Given the description of an element on the screen output the (x, y) to click on. 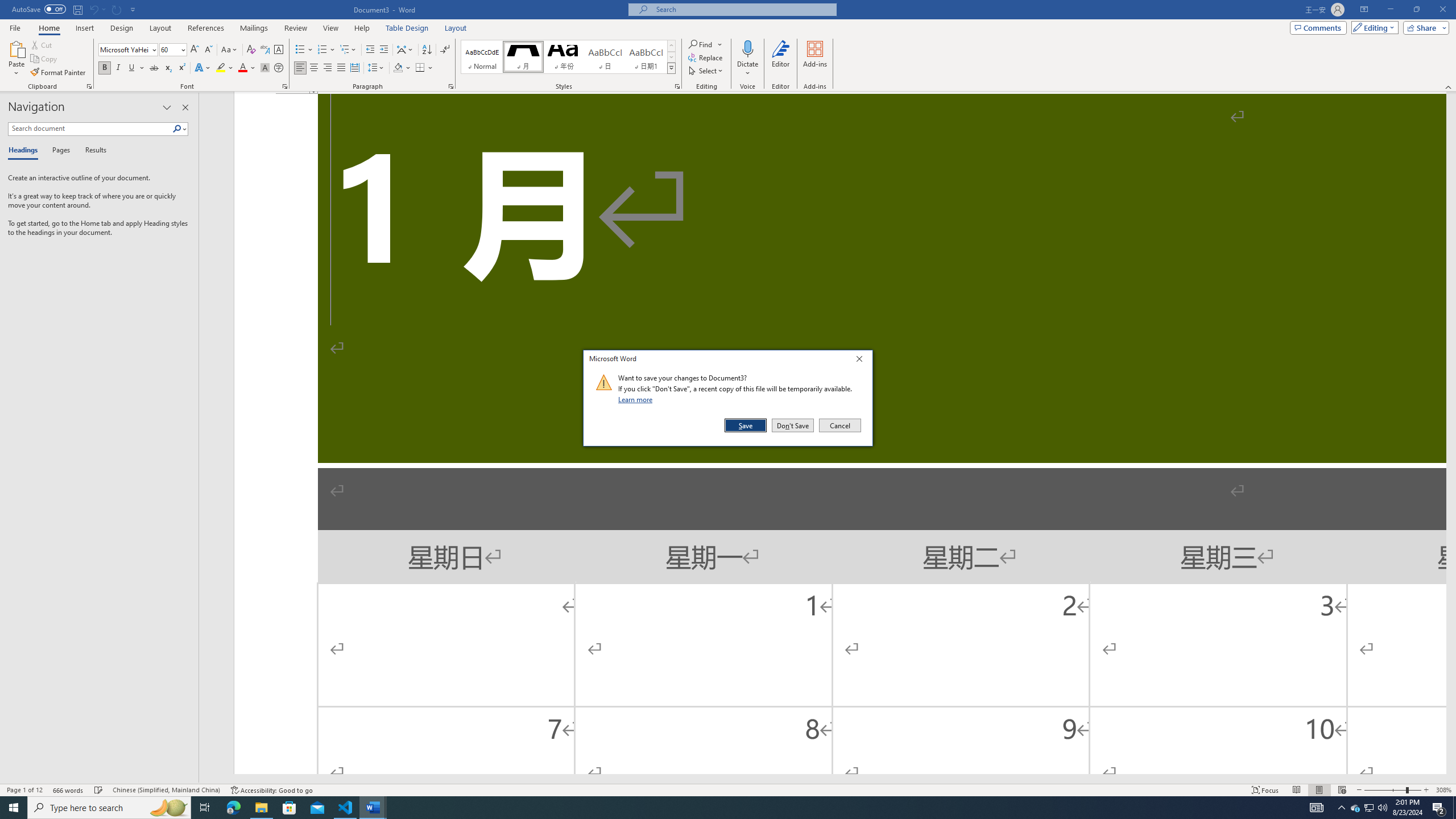
Format Painter (58, 72)
Comments (1318, 27)
Styles... (676, 85)
Subscript (167, 67)
Customize Quick Access Toolbar (133, 9)
Class: NetUIScrollBar (822, 778)
Replace... (705, 56)
Zoom (1392, 790)
Table Design (407, 28)
Help (361, 28)
Row Down (670, 56)
Share (1423, 27)
Justify (340, 67)
Shading (402, 67)
Row up (670, 45)
